Given the description of an element on the screen output the (x, y) to click on. 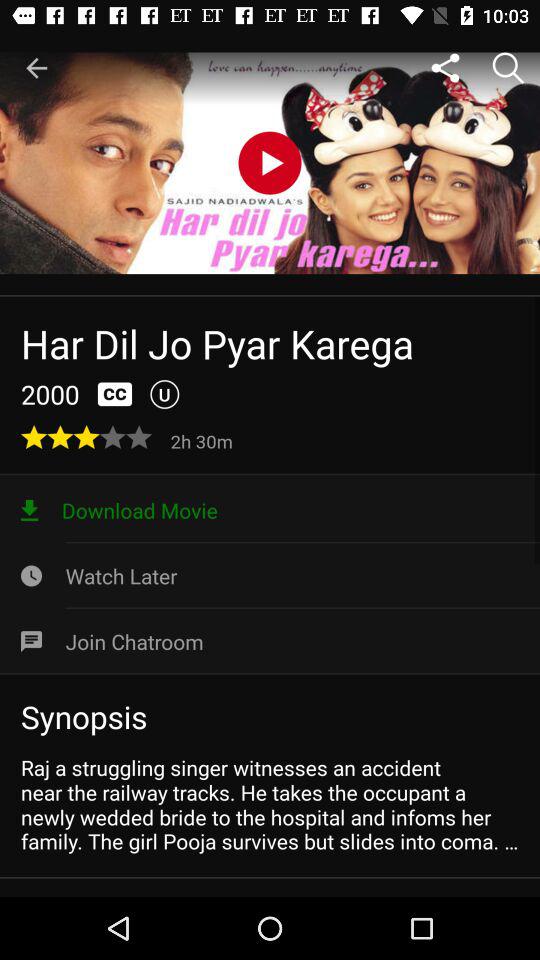
select icon above synopsis (270, 641)
